Given the description of an element on the screen output the (x, y) to click on. 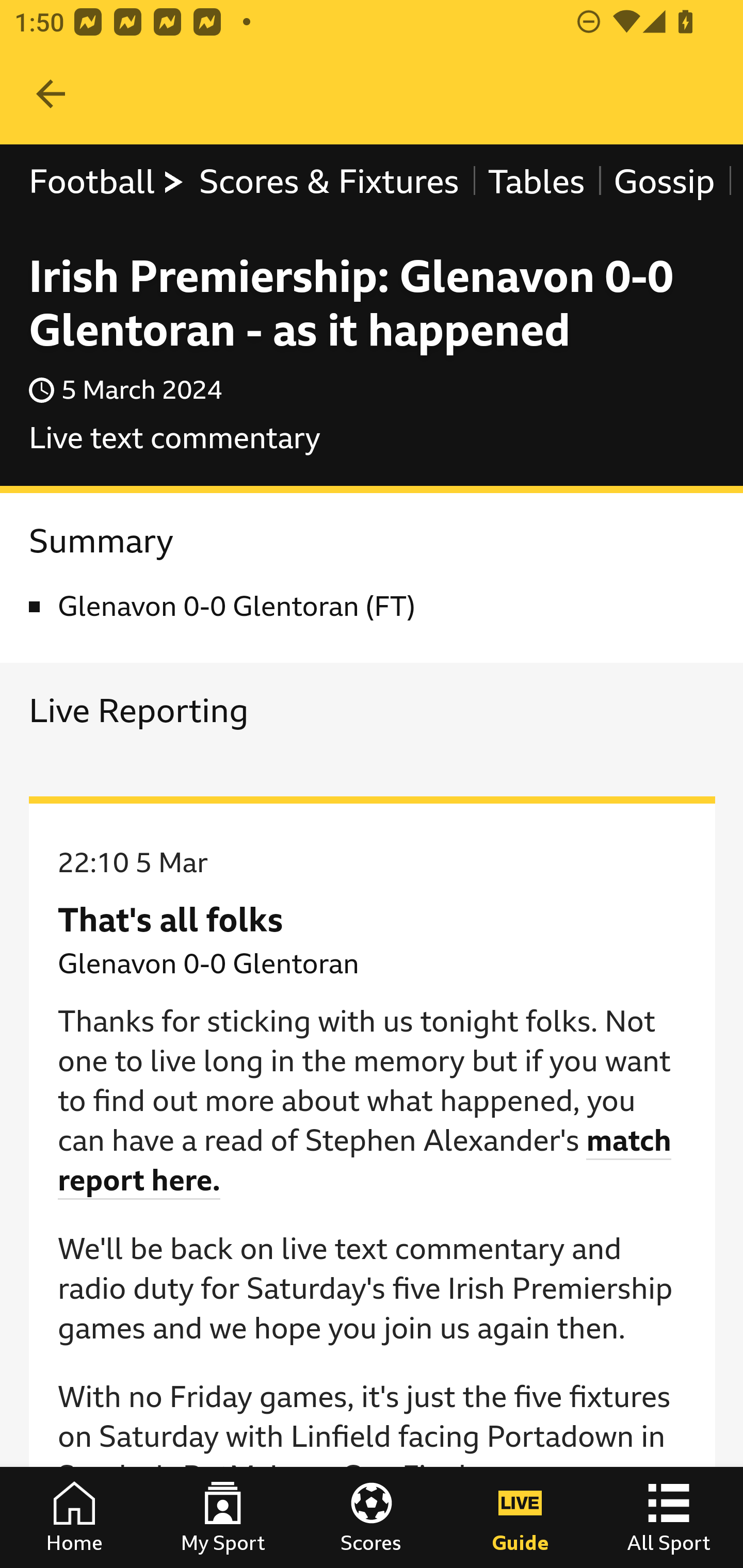
Navigate up (50, 93)
Football  (106, 181)
Scores & Fixtures (329, 181)
Tables (536, 181)
Gossip (664, 181)
match report here. (365, 1160)
Home (74, 1517)
My Sport (222, 1517)
Scores (371, 1517)
All Sport (668, 1517)
